Given the description of an element on the screen output the (x, y) to click on. 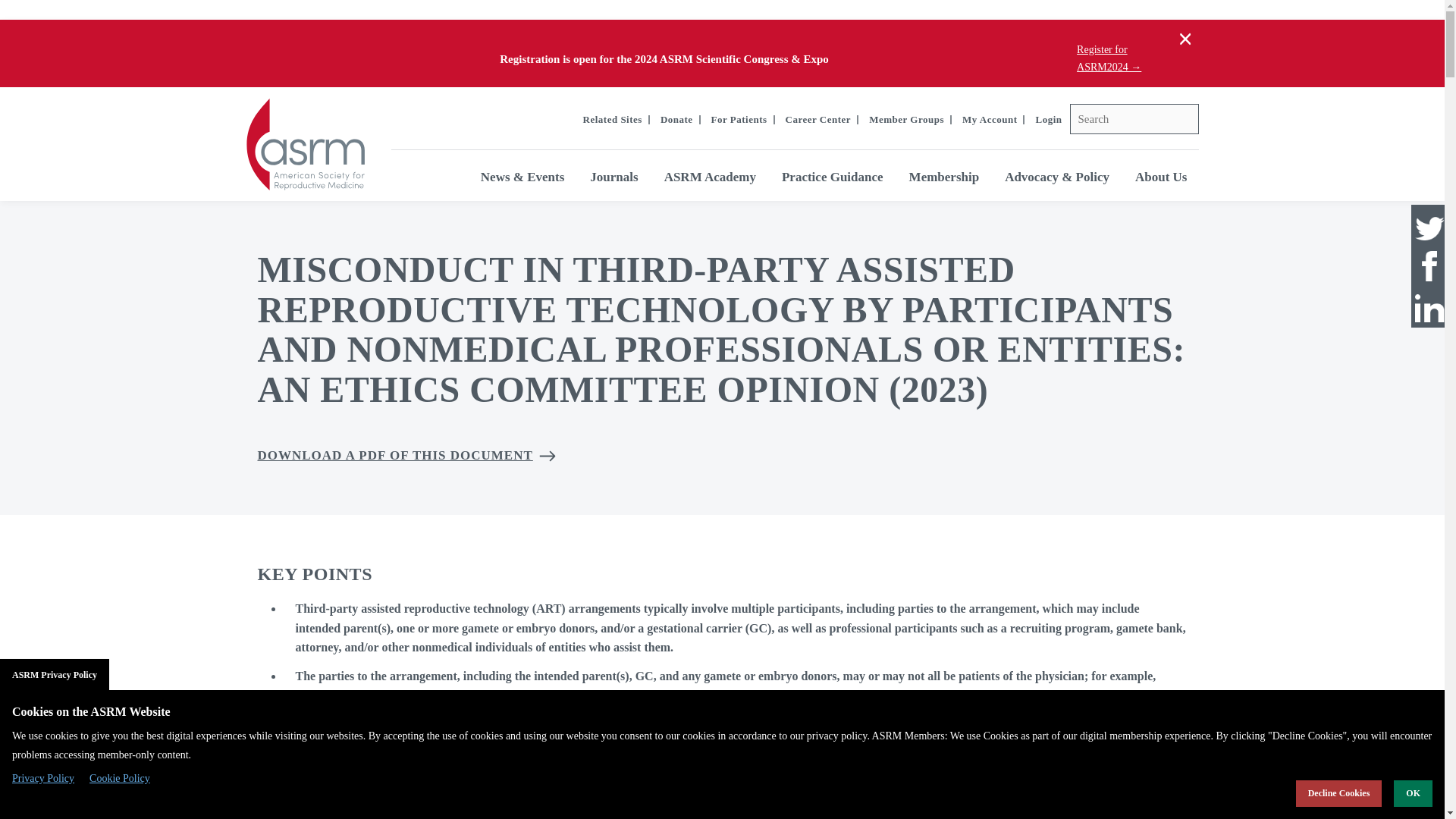
Member Groups (906, 119)
Donate (677, 119)
Journals (613, 176)
My Account (989, 119)
Career Center (818, 119)
ASRM Academy (709, 176)
For Patients (739, 119)
Login (1048, 119)
Related Sites (612, 119)
